Given the description of an element on the screen output the (x, y) to click on. 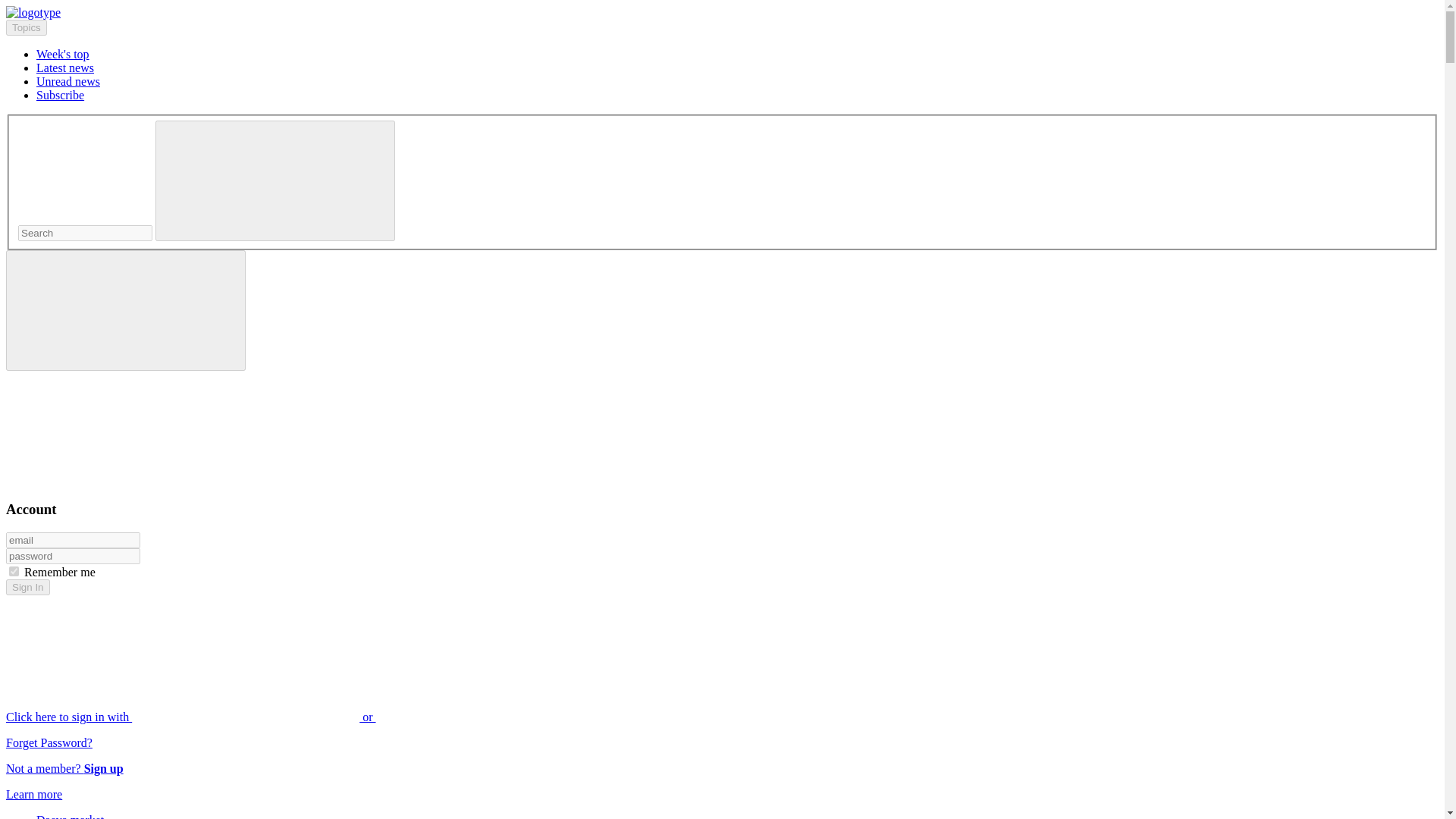
Week's top (62, 53)
Unread news (68, 81)
Not a member? Sign up (64, 768)
Daeva market (69, 816)
Learn more (33, 793)
Subscribe (60, 94)
Sign In (27, 587)
Click here to sign in with or (304, 716)
Forget Password? (49, 742)
on (13, 571)
